Given the description of an element on the screen output the (x, y) to click on. 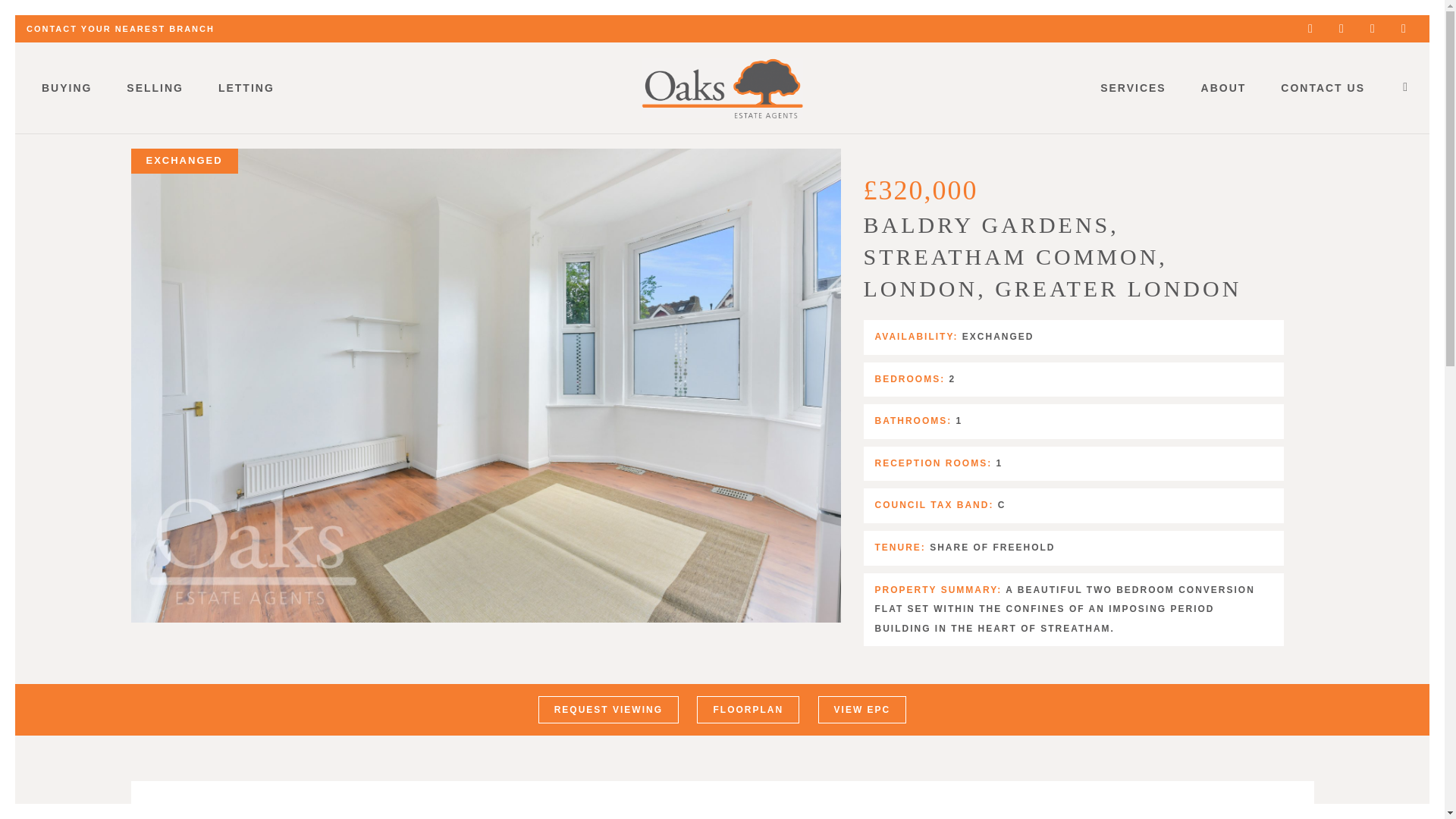
LETTING (246, 87)
CONTACT YOUR NEAREST BRANCH (120, 28)
BUYING (66, 87)
SELLING (155, 87)
